Given the description of an element on the screen output the (x, y) to click on. 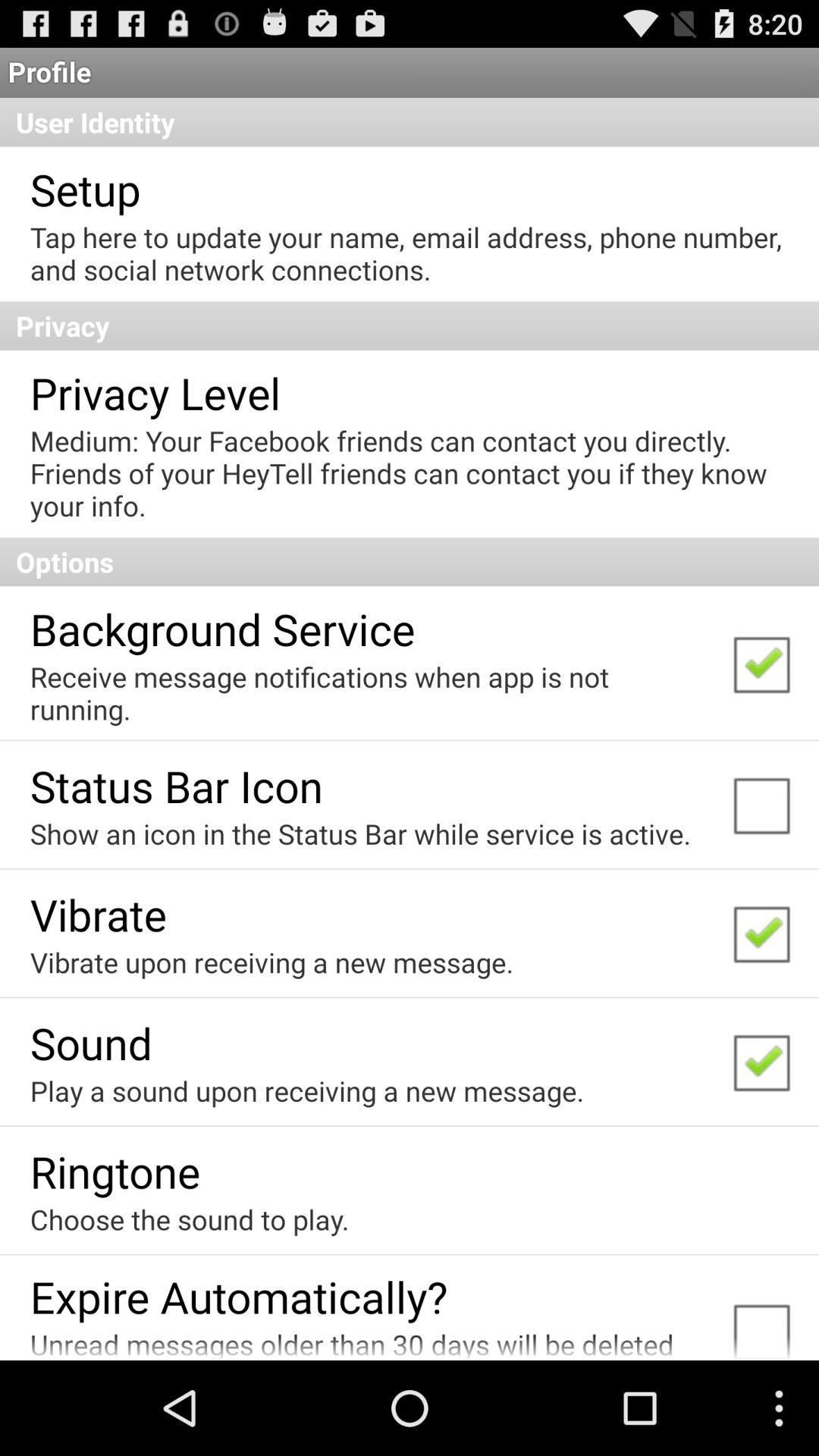
click the icon below options app (222, 628)
